Given the description of an element on the screen output the (x, y) to click on. 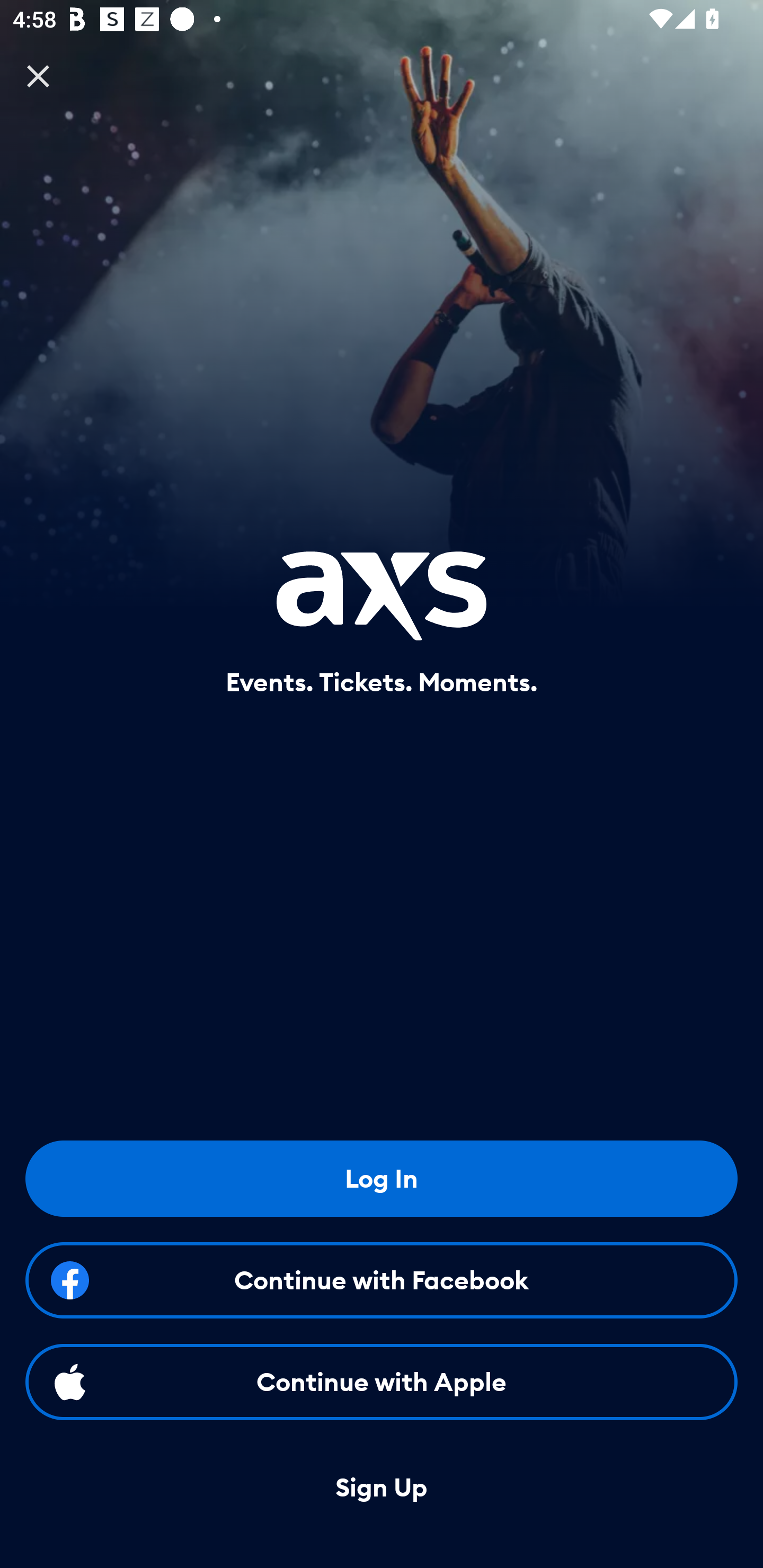
Log In (381, 1177)
Continue with Facebook (381, 1279)
Continue with Apple (381, 1381)
Sign Up (381, 1487)
